Given the description of an element on the screen output the (x, y) to click on. 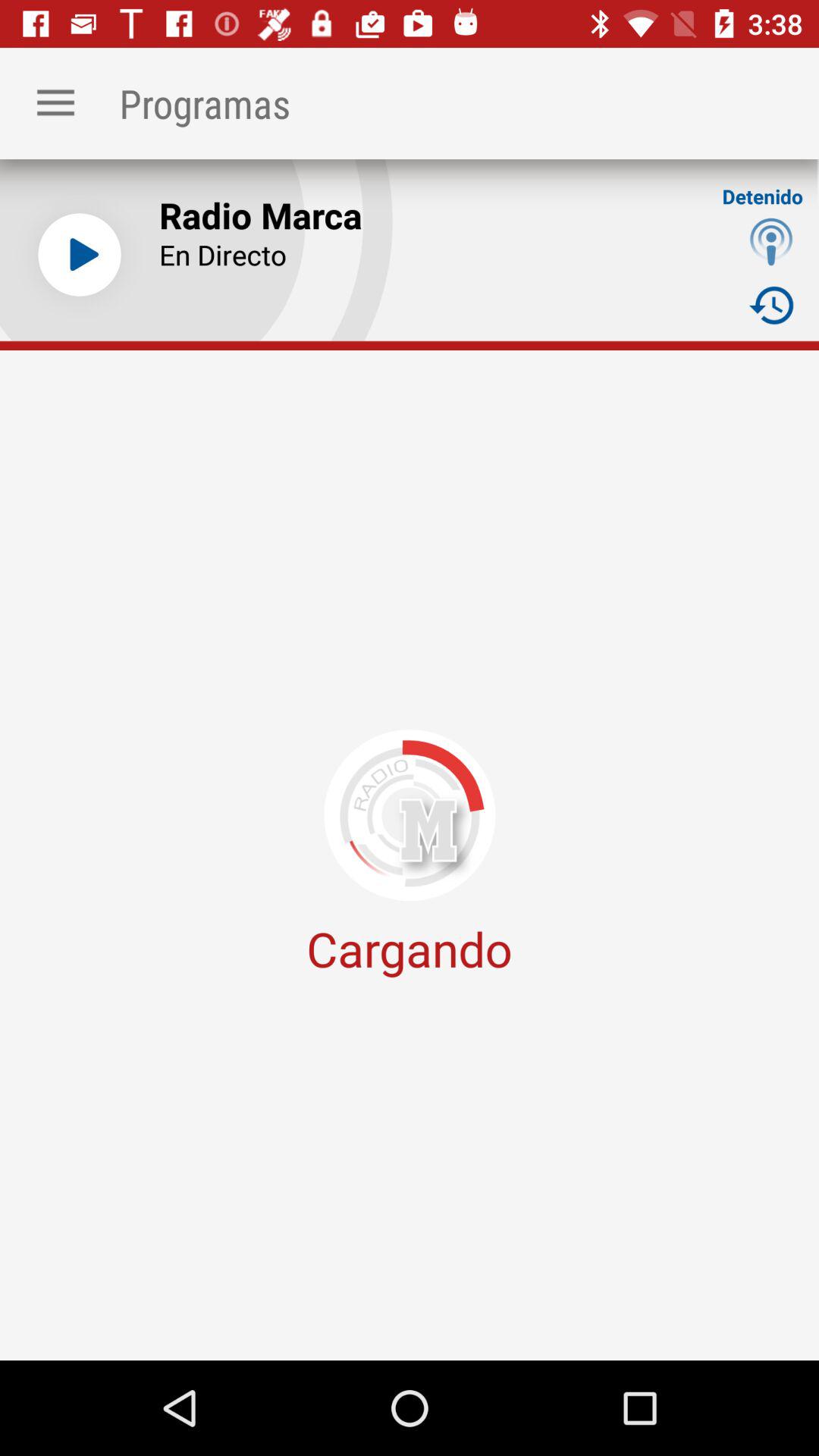
song play button (79, 254)
